Given the description of an element on the screen output the (x, y) to click on. 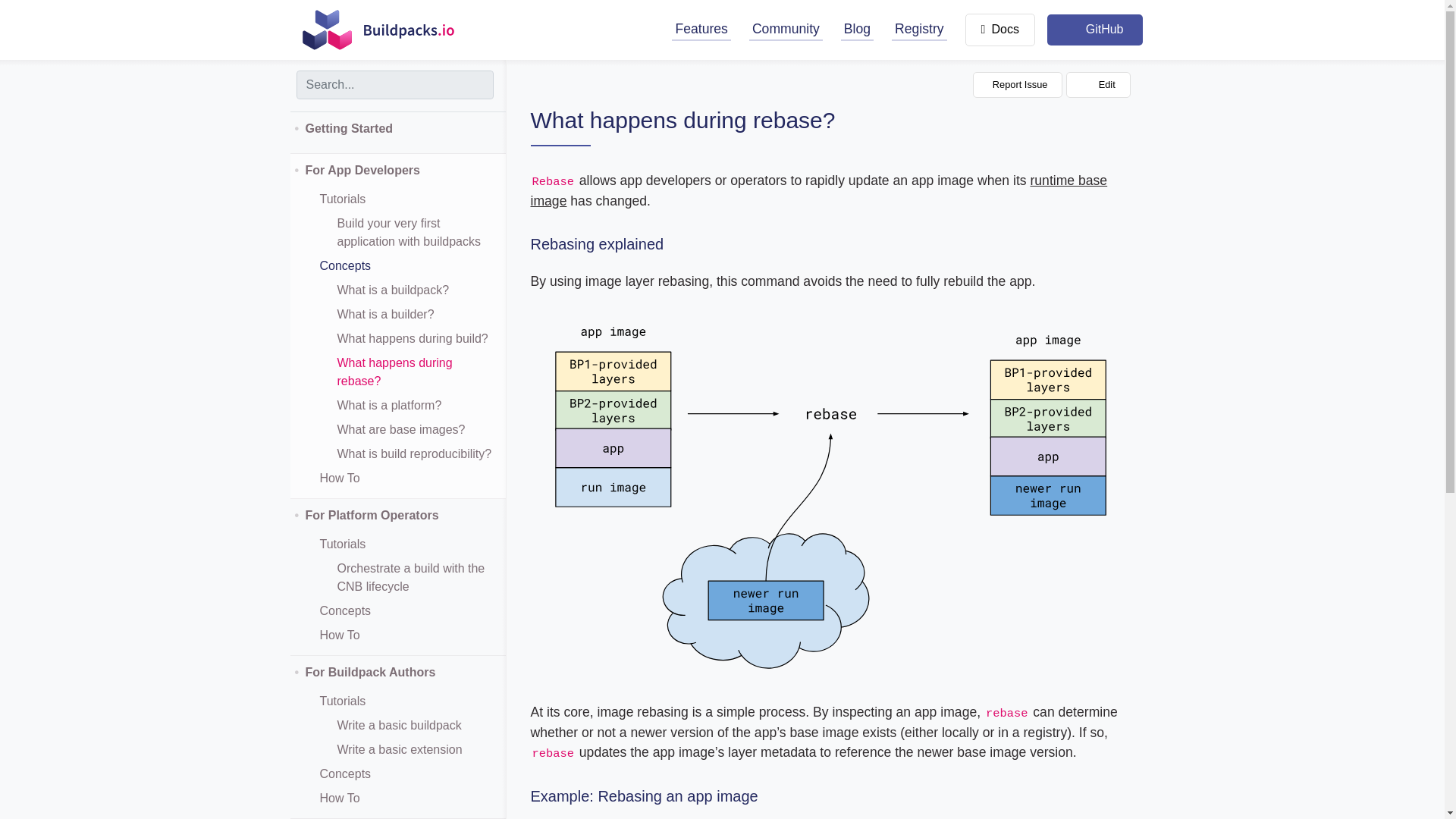
What is a builder? (384, 314)
GitHub (1094, 29)
What happens during build? (411, 338)
Community (785, 29)
What are base images? (400, 429)
Features (700, 29)
Blog (857, 29)
What is a platform? (388, 405)
What is build reproducibility? (413, 454)
What is a buildpack? (392, 290)
